Given the description of an element on the screen output the (x, y) to click on. 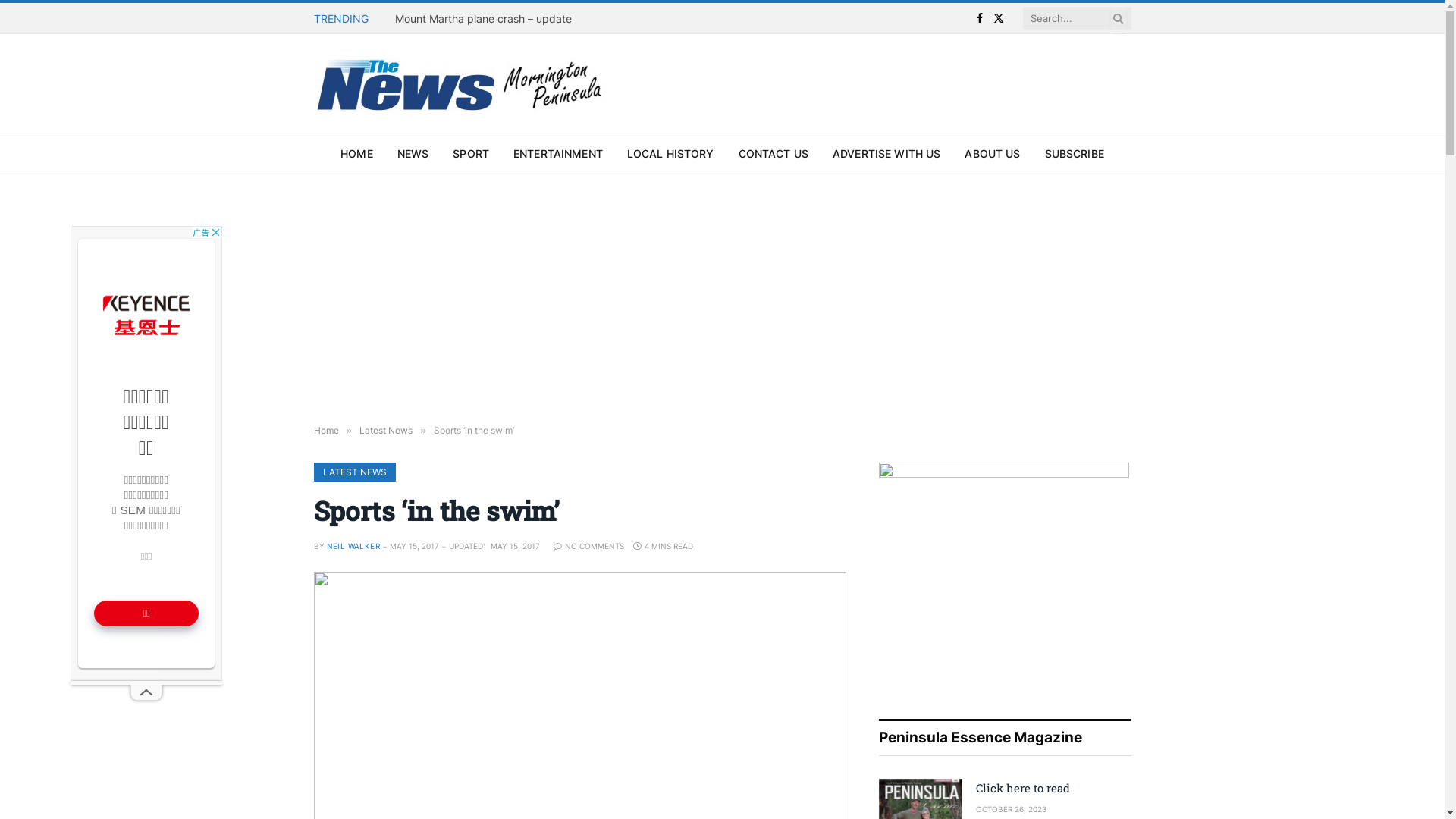
Home Element type: text (325, 430)
MPNEWS Element type: hover (461, 85)
CONTACT US Element type: text (773, 153)
Advertisement Element type: hover (146, 452)
SUBSCRIBE Element type: text (1074, 153)
NEIL WALKER Element type: text (352, 545)
SPORT Element type: text (470, 153)
ENTERTAINMENT Element type: text (558, 153)
NO COMMENTS Element type: text (588, 545)
Click here to read Element type: text (1052, 788)
LATEST NEWS Element type: text (354, 471)
X (Twitter) Element type: text (998, 18)
Facebook Element type: text (979, 18)
HOME Element type: text (356, 153)
LOCAL HISTORY Element type: text (670, 153)
ABOUT US Element type: text (992, 153)
Advertisement Element type: hover (721, 292)
Latest News Element type: text (385, 430)
ADVERTISE WITH US Element type: text (886, 153)
NEWS Element type: text (413, 153)
